Given the description of an element on the screen output the (x, y) to click on. 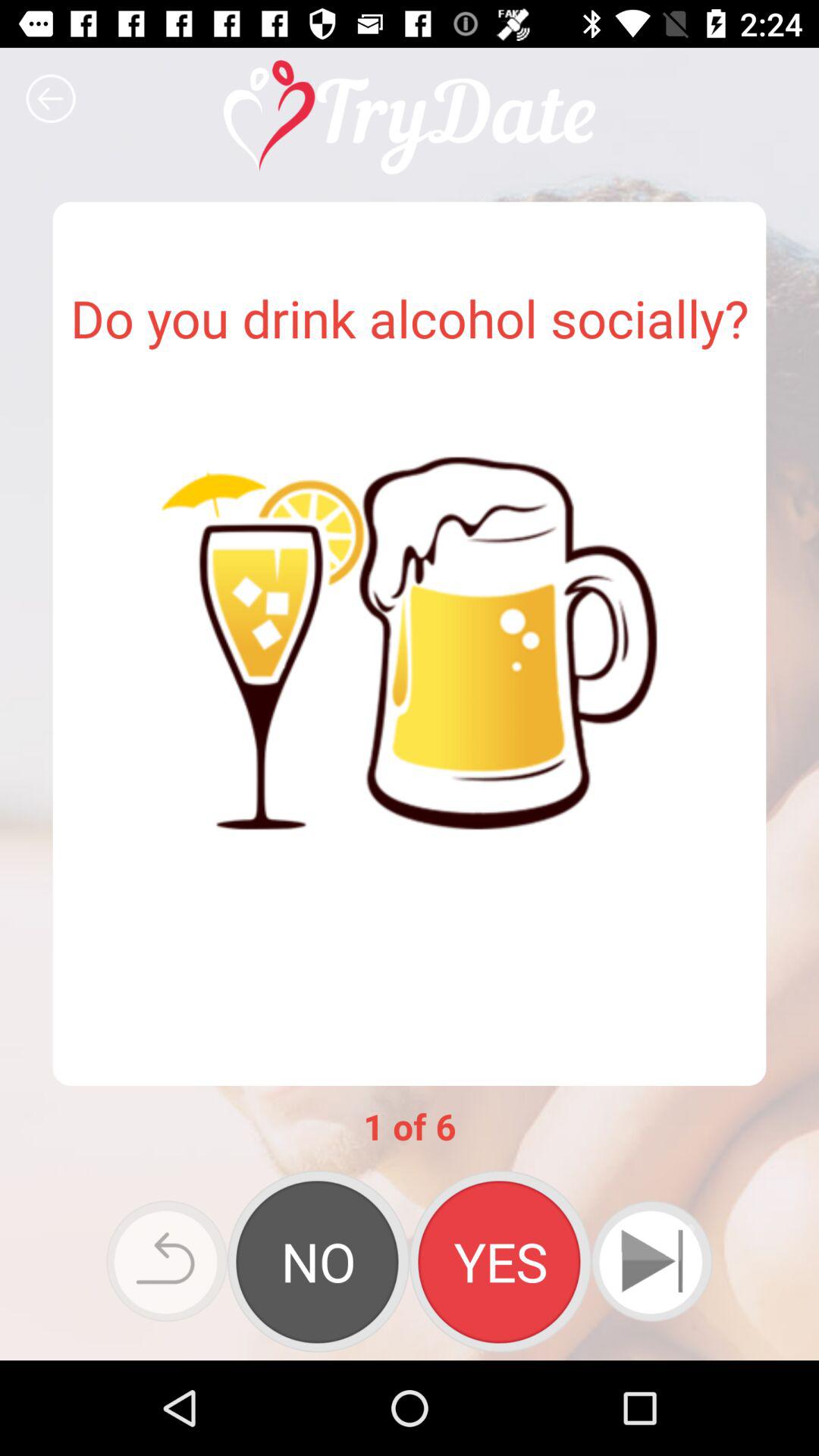
select option (318, 1261)
